Given the description of an element on the screen output the (x, y) to click on. 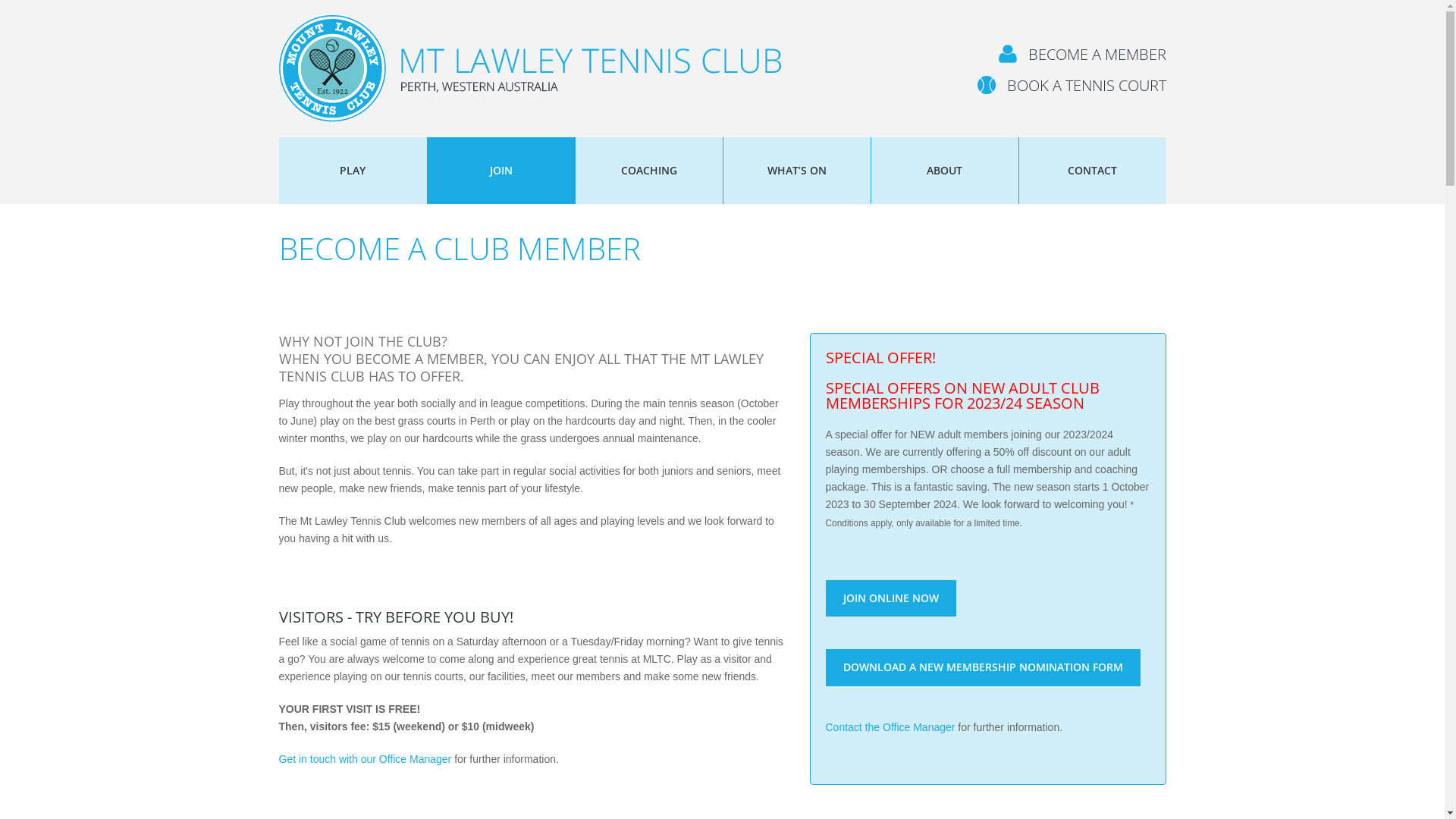
CONTACT Element type: text (1092, 170)
DOWNLOAD A NEW MEMBERSHIP NOMINATION FORM Element type: text (982, 667)
Contact the Office Manager Element type: text (889, 727)
JOIN ONLINE NOW Element type: text (890, 597)
Get in touch with our Office Manager Element type: text (365, 759)
COACHING Element type: text (647, 170)
BOOK A TENNIS COURT Element type: text (1070, 85)
BECOME A MEMBER Element type: text (1081, 53)
PLAY Element type: text (352, 170)
ABOUT Element type: text (943, 170)
JOIN Element type: text (500, 170)
